Given the description of an element on the screen output the (x, y) to click on. 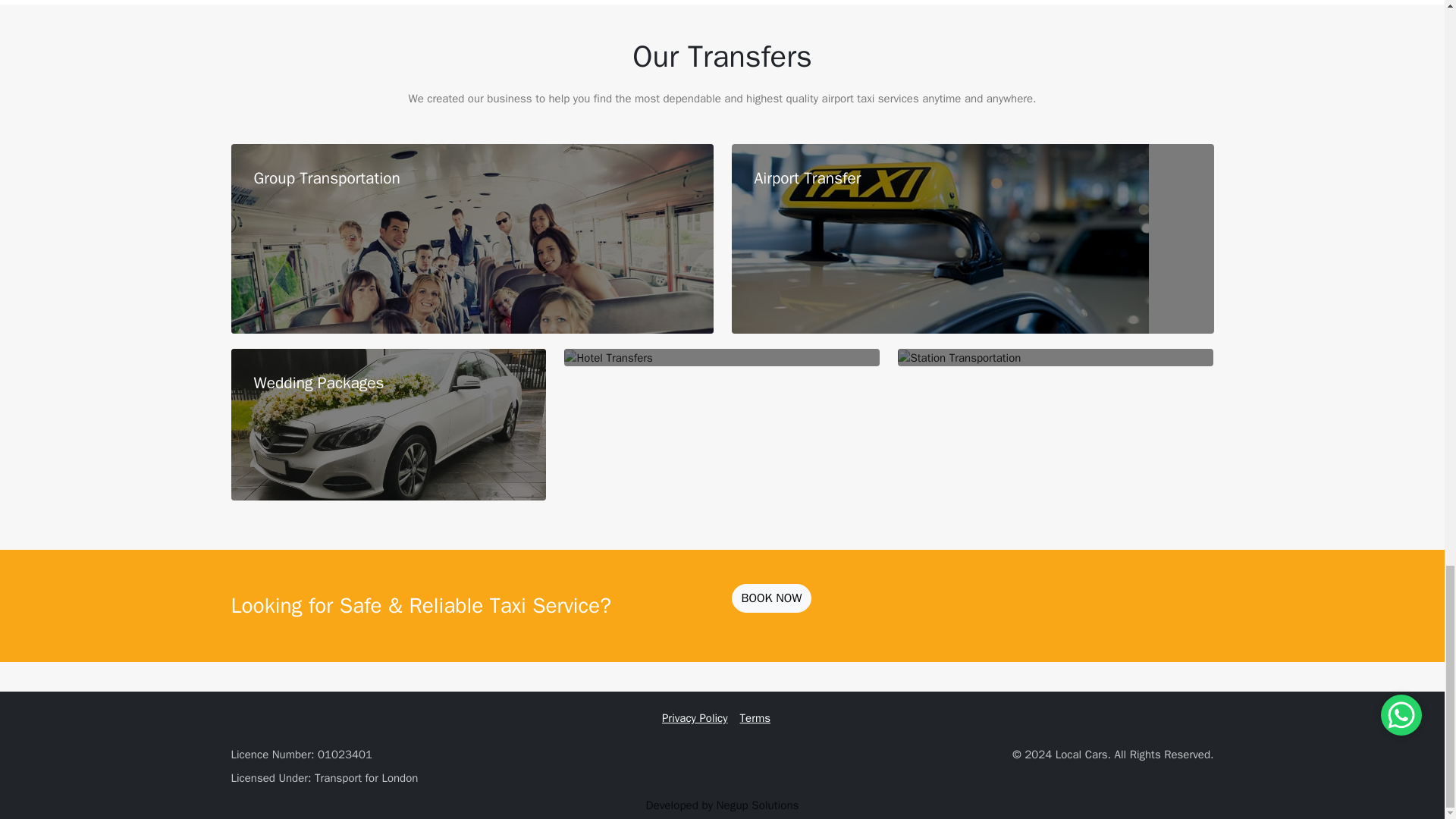
Station Transportation (959, 357)
Developed by Negup Solutions (722, 805)
BOOK NOW (770, 597)
Airport Transportation (939, 238)
Wedding Transportation (388, 424)
Privacy Policy (695, 718)
Terms (754, 718)
Hotel Transfers (608, 357)
